Given the description of an element on the screen output the (x, y) to click on. 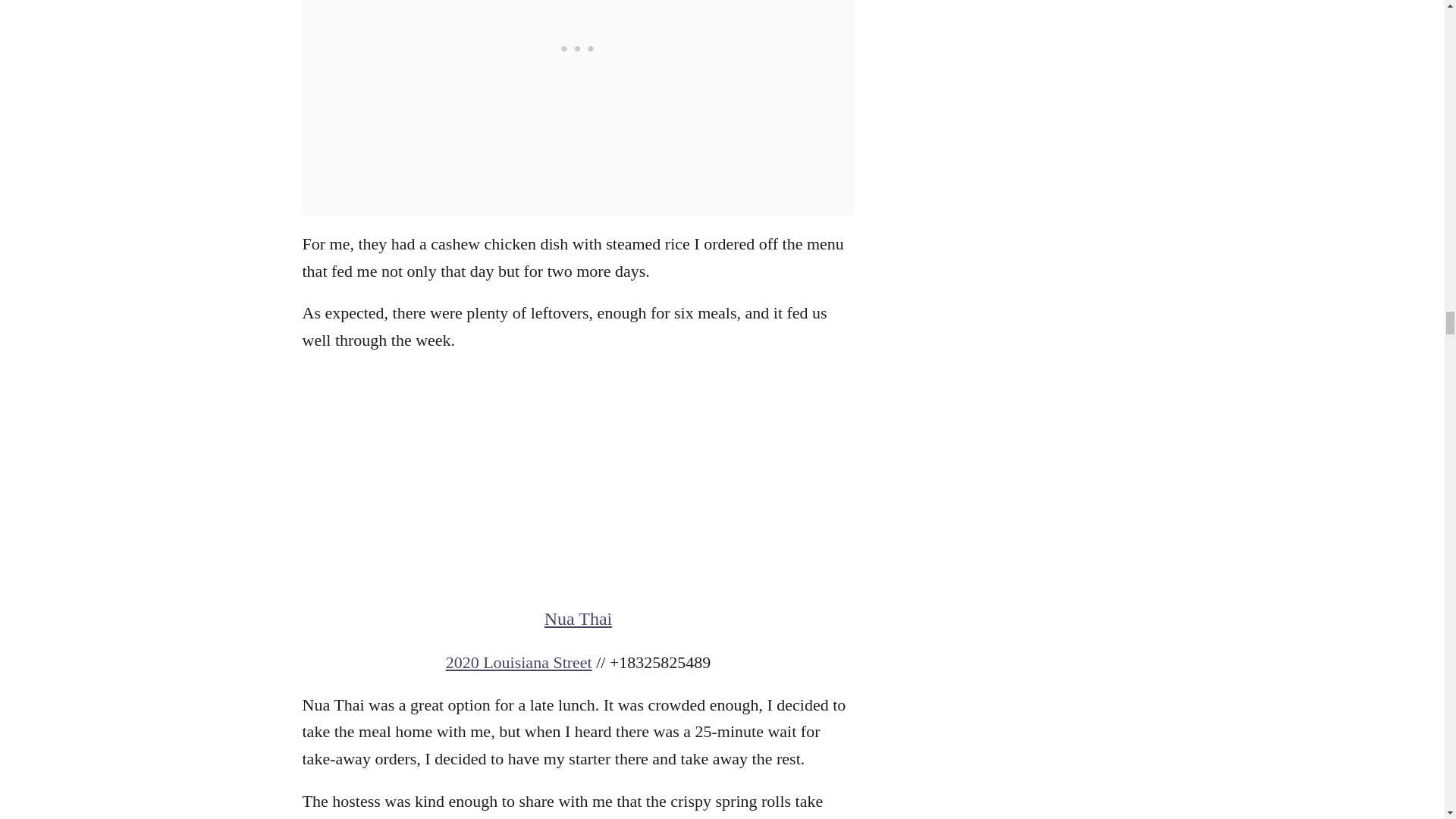
GetYourGuide Widget (577, 479)
